Given the description of an element on the screen output the (x, y) to click on. 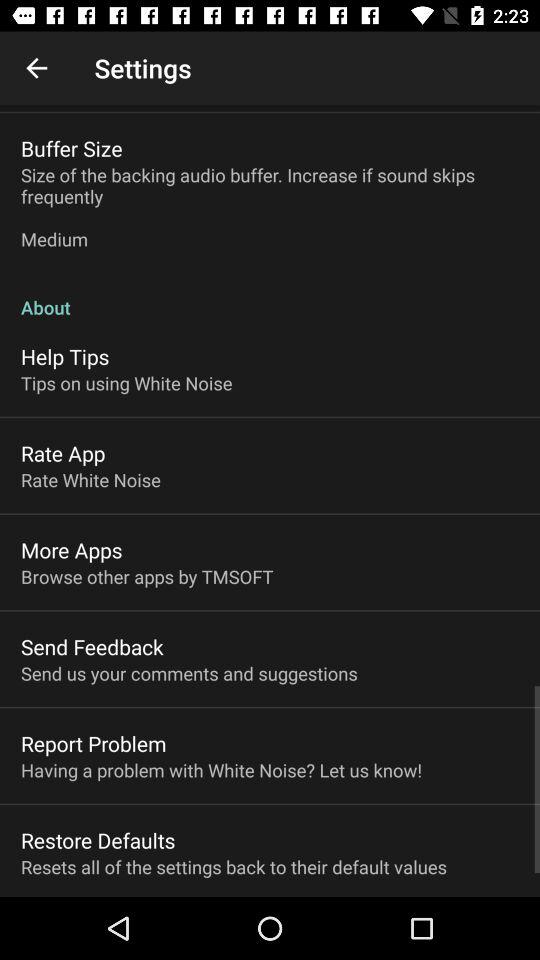
open the item below the browse other apps item (92, 646)
